Given the description of an element on the screen output the (x, y) to click on. 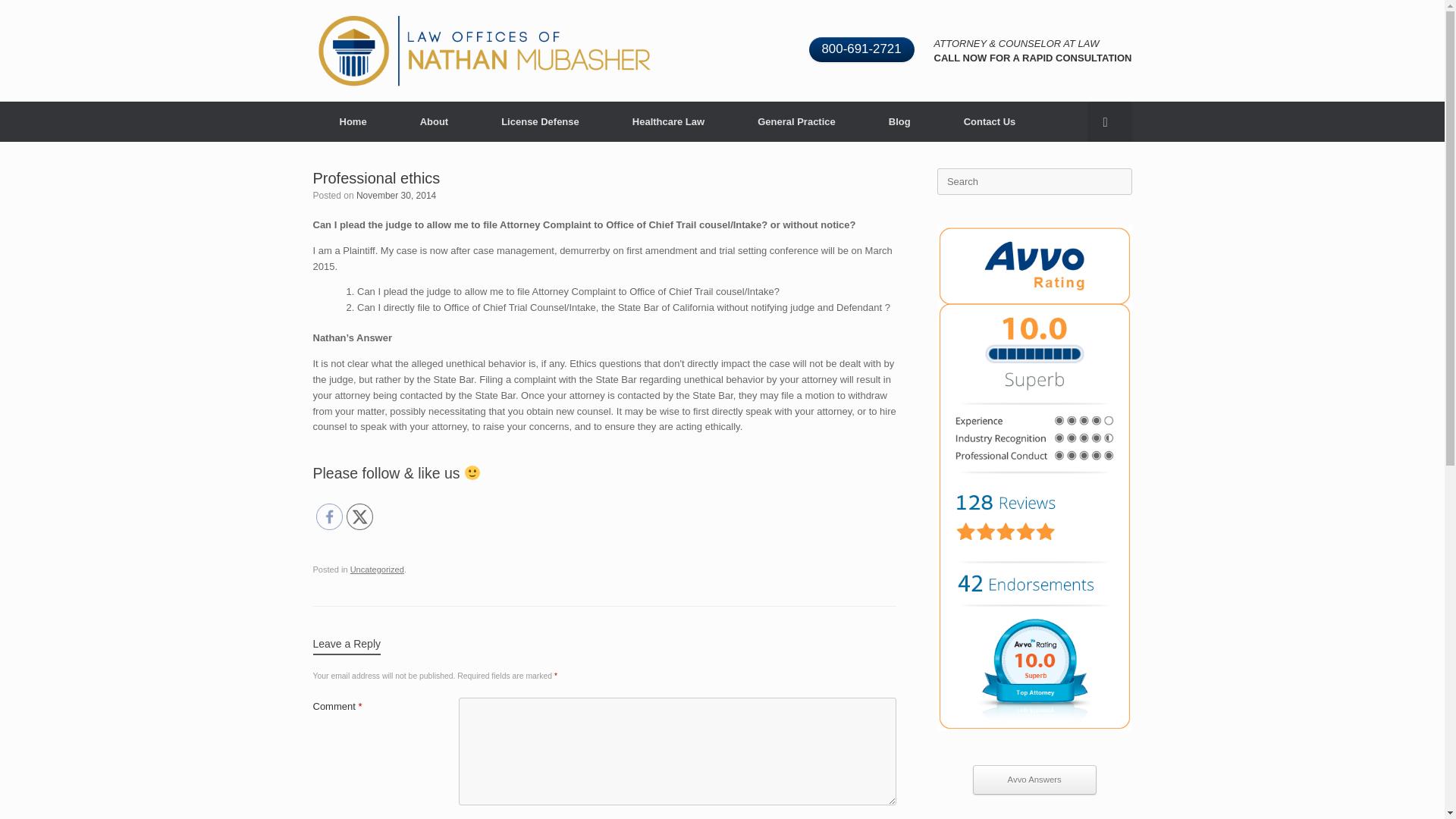
November 30, 2014 (395, 195)
Contact Us (989, 121)
About (434, 121)
General Practice (795, 121)
Twitter (359, 516)
800-691-2721 (861, 49)
Home (353, 121)
Law Offices of Nathan Mubasher (484, 50)
Blog (899, 121)
4:09 am (395, 195)
